Given the description of an element on the screen output the (x, y) to click on. 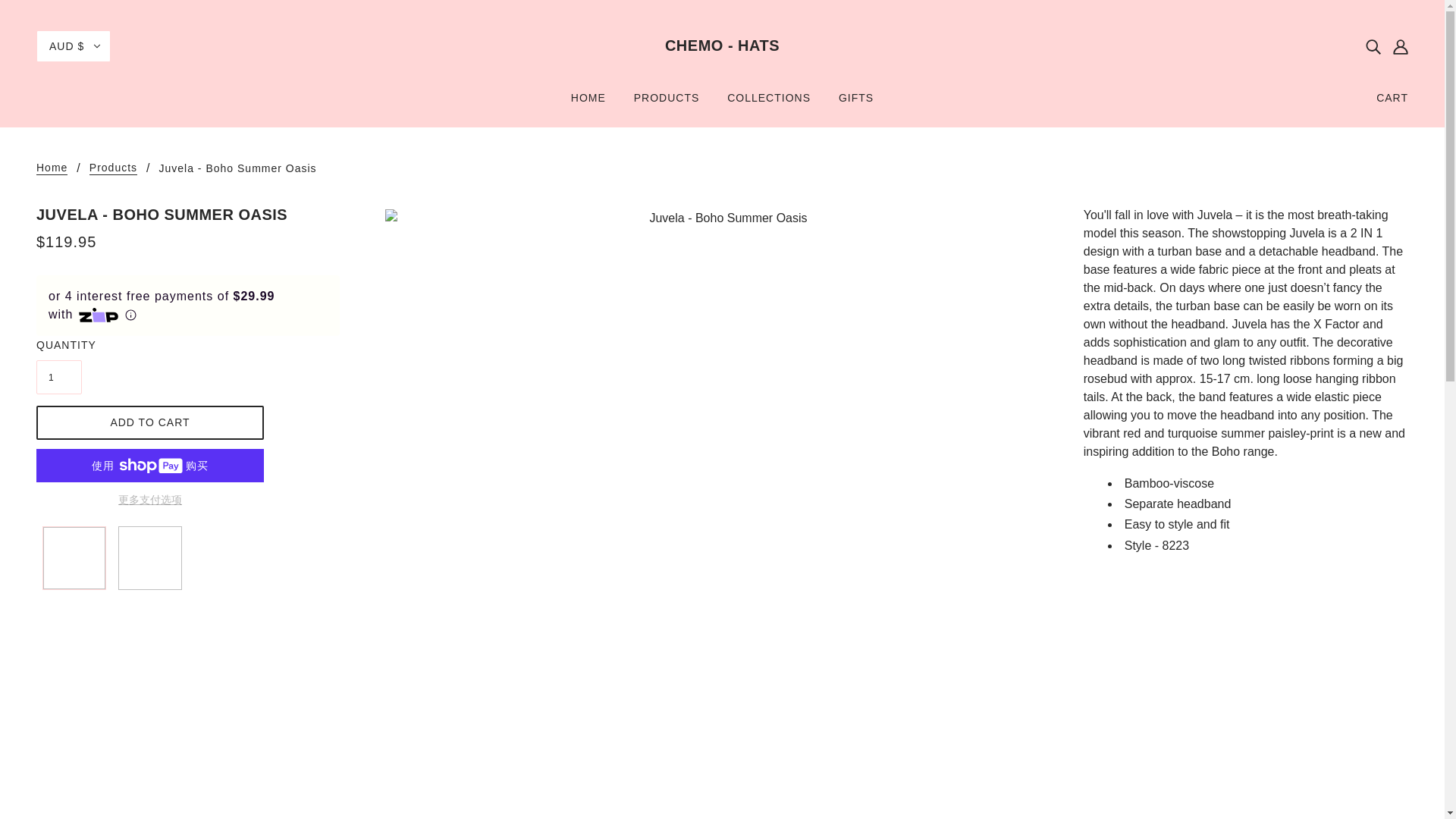
PRODUCTS (666, 103)
1 (58, 376)
ADD TO CART (149, 422)
Home (51, 168)
GIFTS (856, 103)
CHEMO - HATS (721, 45)
COLLECTIONS (768, 103)
HOME (588, 103)
Products (112, 168)
CART (1392, 97)
